Given the description of an element on the screen output the (x, y) to click on. 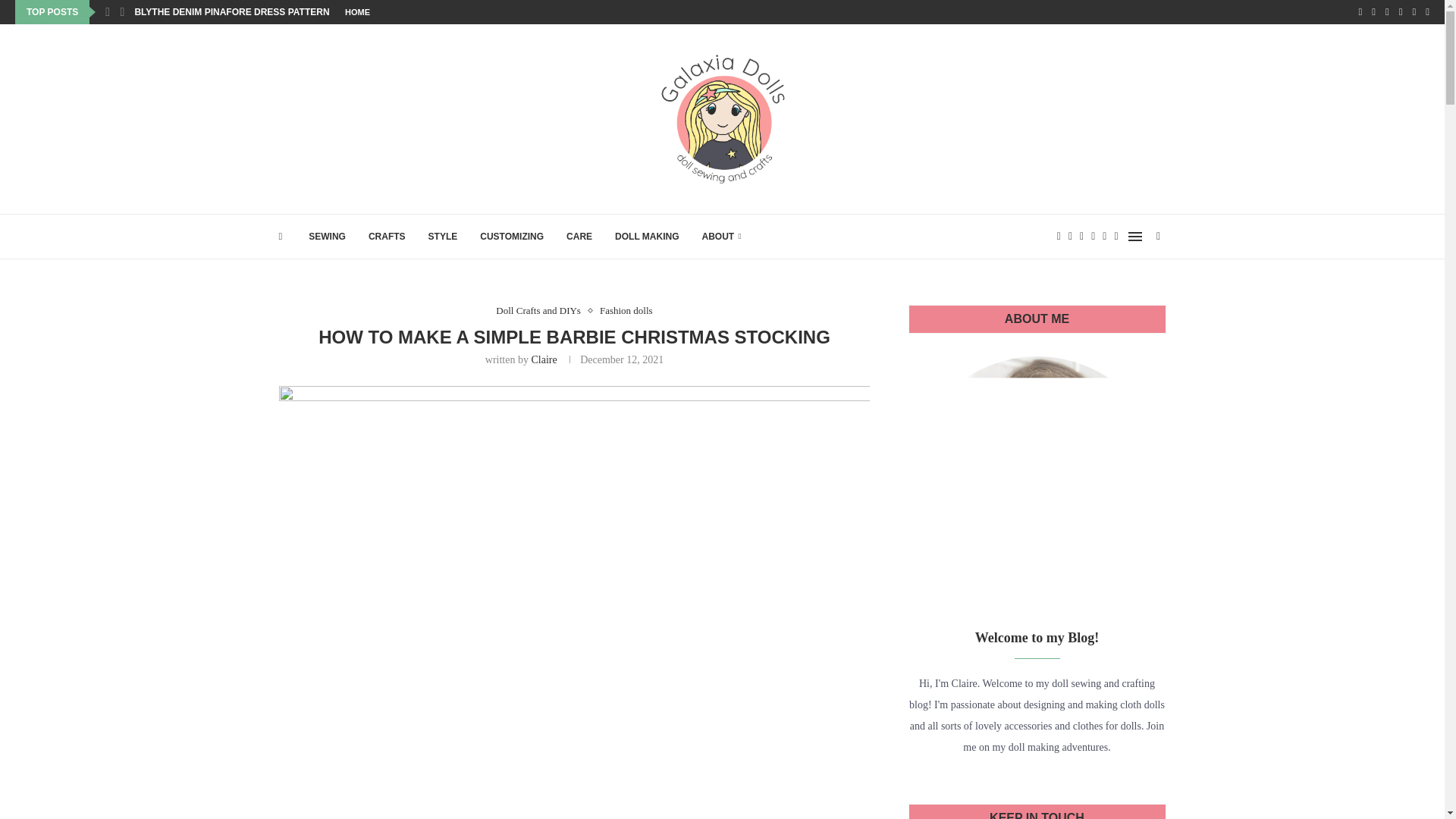
CUSTOMIZING (511, 236)
ABOUT (721, 236)
DOLL MAKING (646, 236)
HOME (357, 12)
BLYTHE DENIM PINAFORE DRESS PATTERN (231, 12)
